Given the description of an element on the screen output the (x, y) to click on. 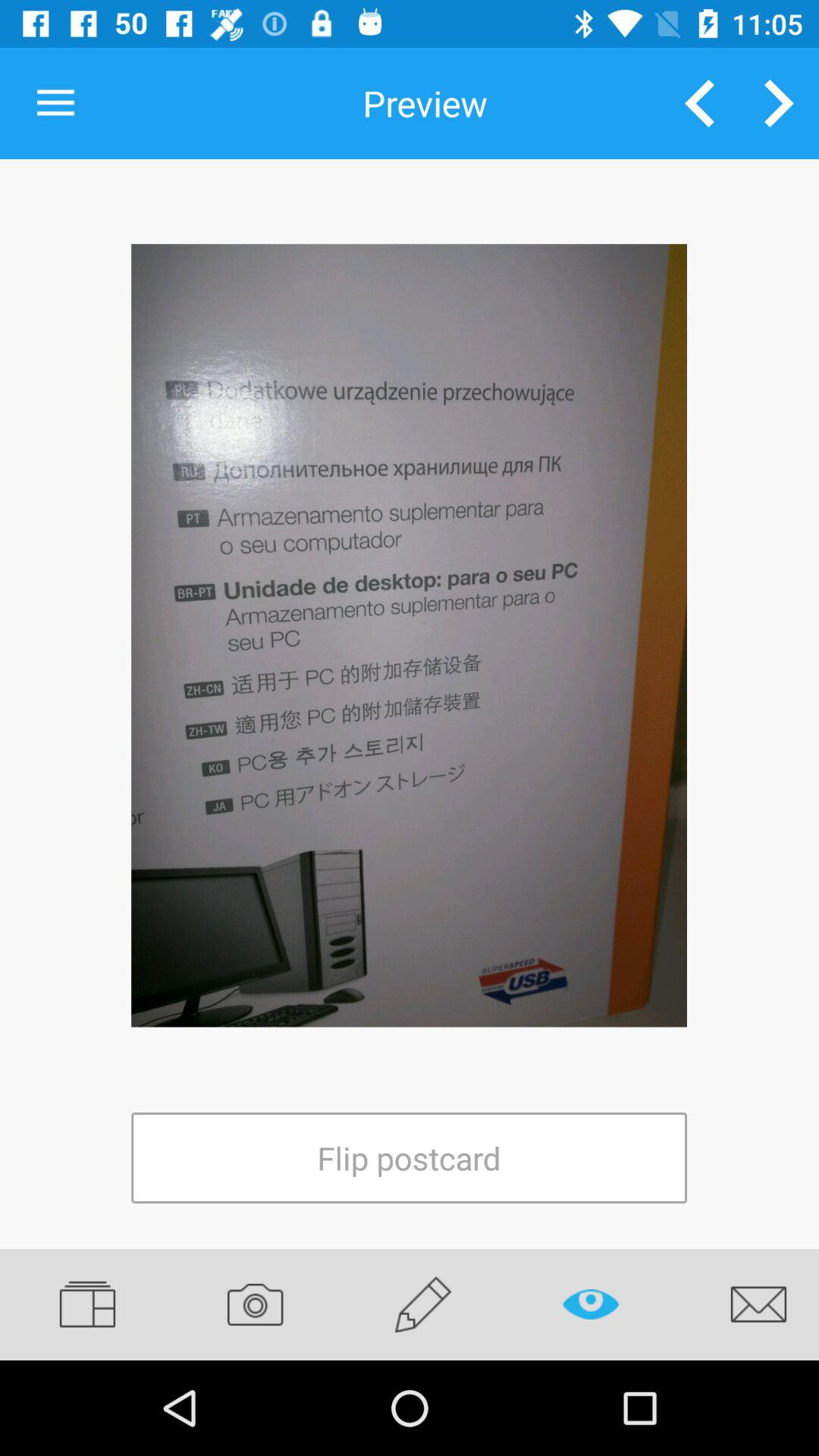
enlarge image (409, 635)
